Given the description of an element on the screen output the (x, y) to click on. 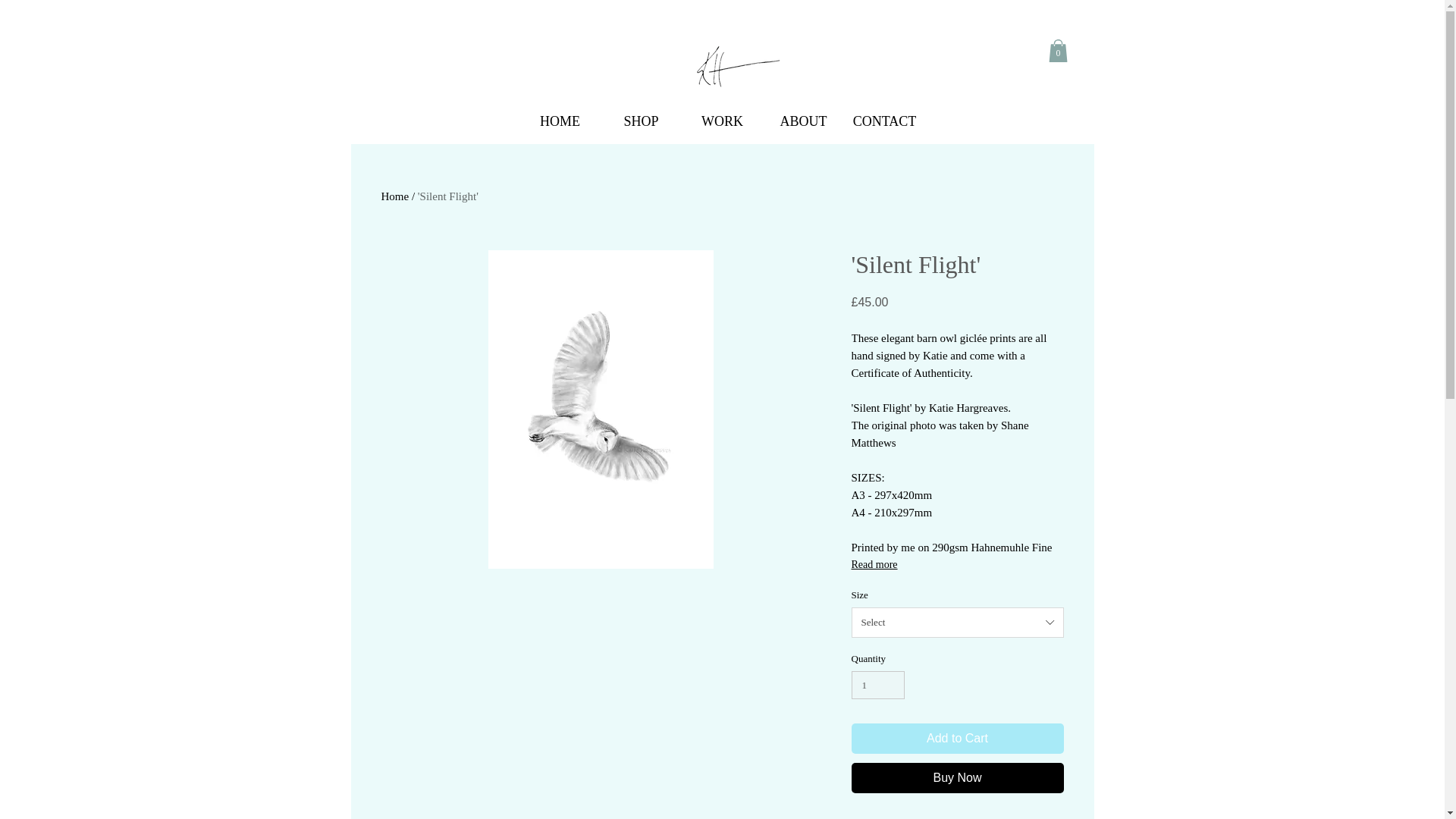
Buy Now (956, 777)
Read more (956, 564)
SHOP (640, 126)
'Silent Flight' (448, 196)
HOME (559, 126)
Select (956, 622)
1 (877, 685)
Home (394, 196)
Add to Cart (956, 738)
CONTACT (884, 126)
